Given the description of an element on the screen output the (x, y) to click on. 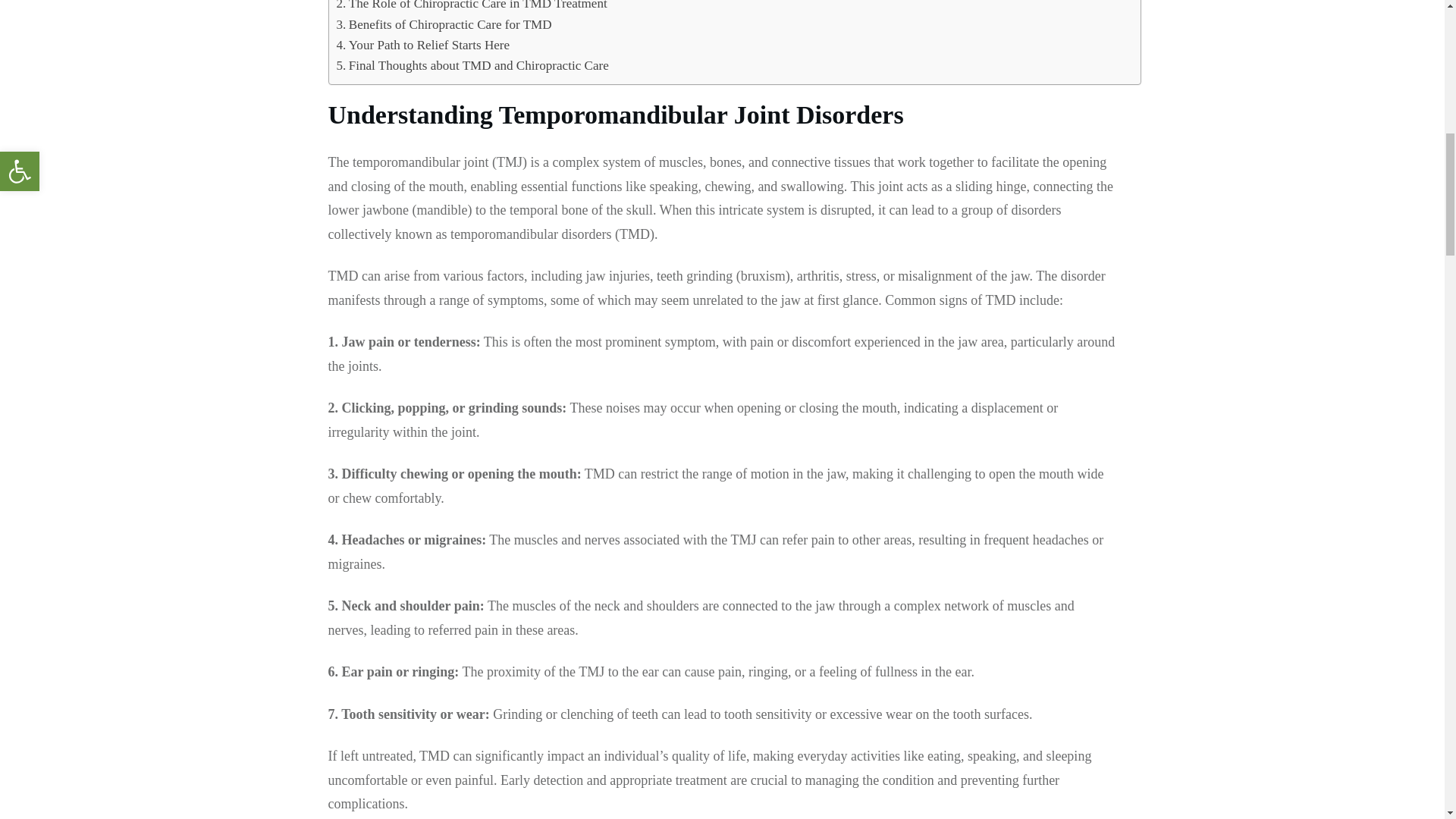
Your Path to Relief Starts Here (423, 45)
Final Thoughts about TMD and Chiropractic Care (472, 65)
Benefits of Chiropractic Care for TMD (443, 24)
The Role of Chiropractic Care in TMD Treatment (471, 6)
